Given the description of an element on the screen output the (x, y) to click on. 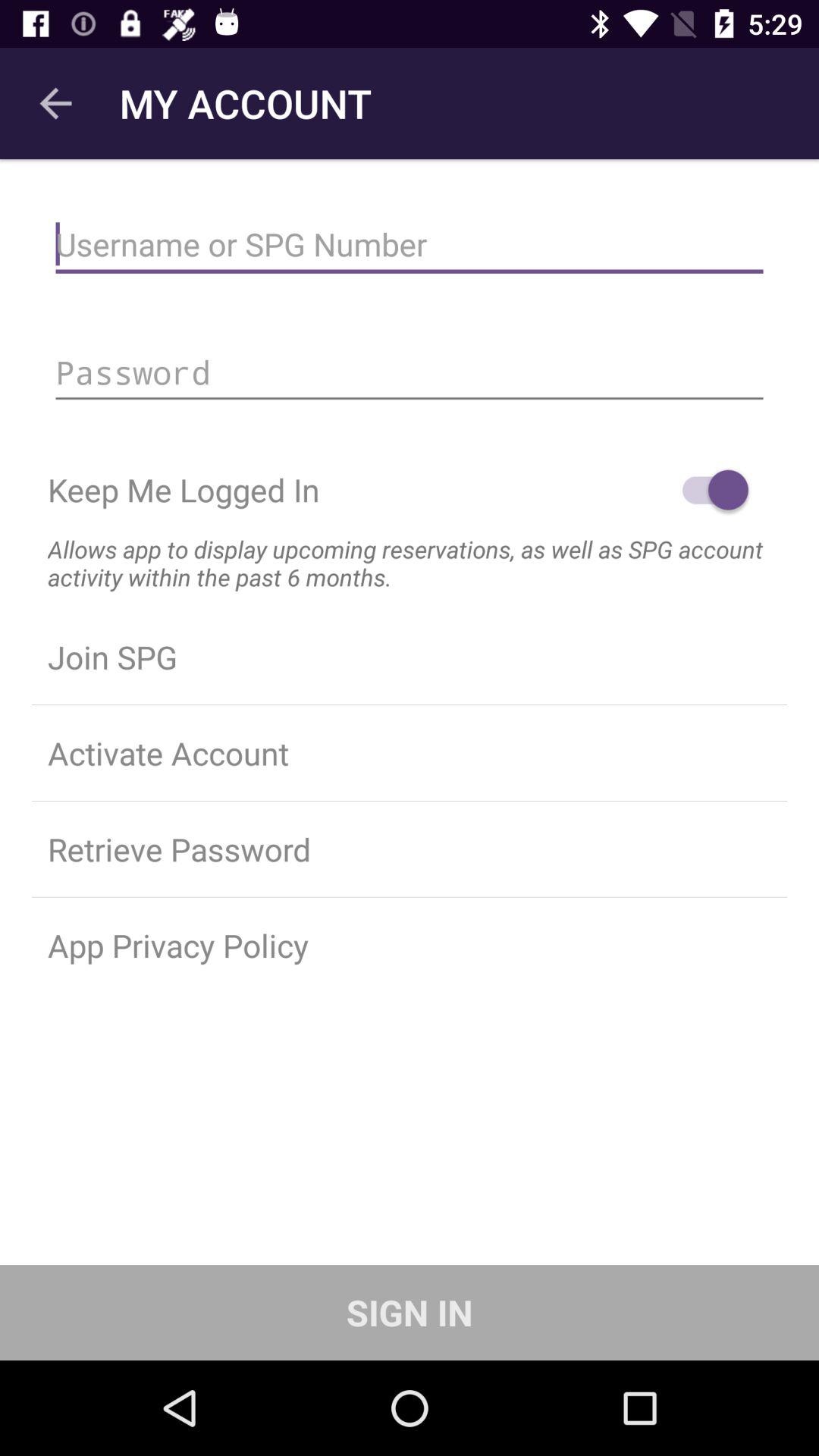
turn off the icon to the right of the keep me logged item (707, 489)
